Given the description of an element on the screen output the (x, y) to click on. 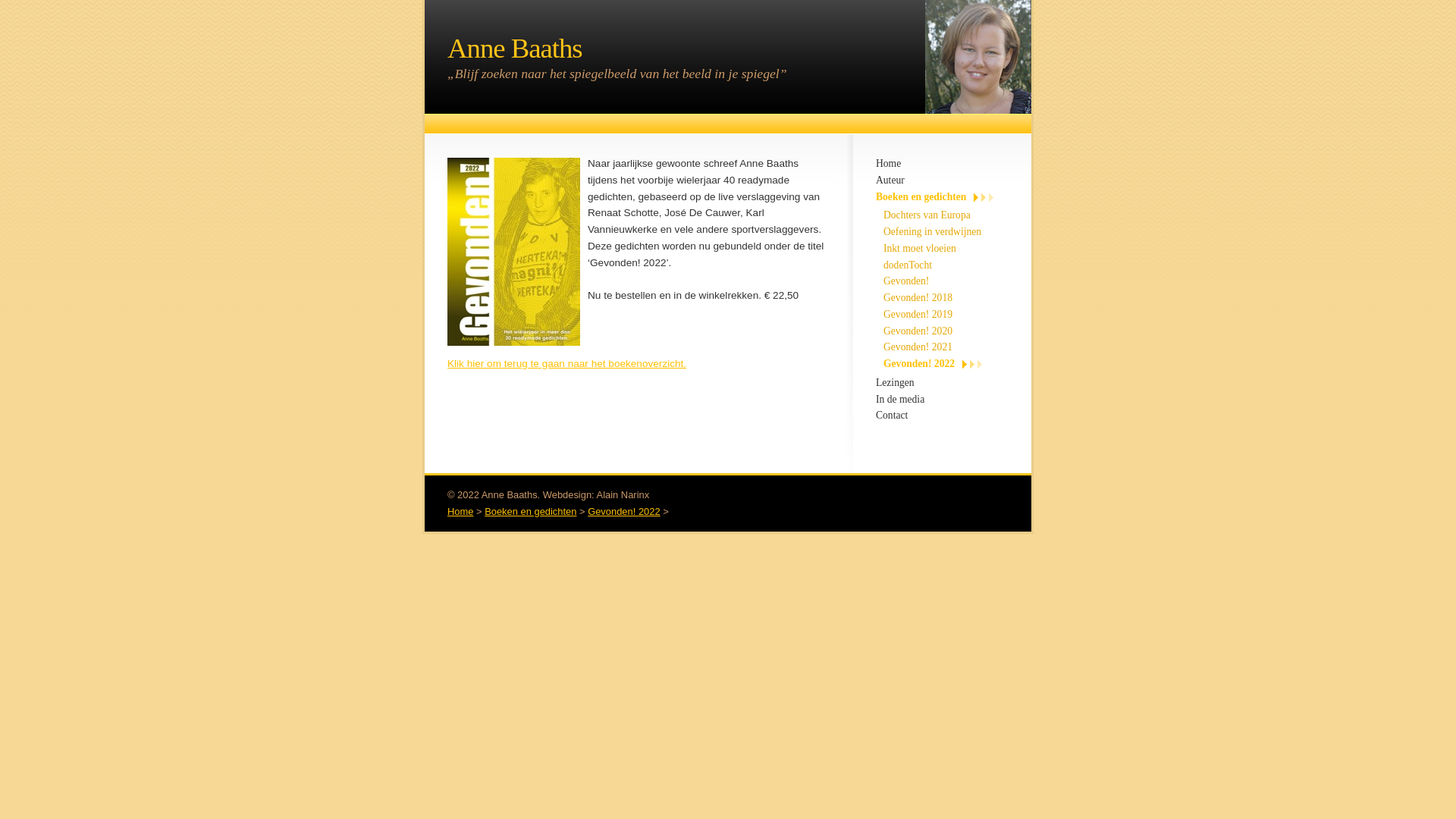
dodenTocht Element type: text (907, 264)
Oefening in verdwijnen Element type: text (932, 231)
Inkt moet vloeien Element type: text (919, 248)
Contact Element type: text (891, 414)
Boeken en gedichten Element type: text (530, 511)
Gevonden! Element type: text (905, 280)
Dochters van Europa Element type: text (926, 214)
Boeken en gedichten Element type: text (934, 196)
Gevonden! 2020 Element type: text (917, 329)
Gevonden! 2022 Element type: text (623, 511)
Lezingen Element type: text (894, 382)
Auteur Element type: text (889, 179)
Klik hier om terug te gaan naar het boekenoverzicht. Element type: text (566, 363)
Gevonden! 2019 Element type: text (917, 314)
Gevonden! 2022 Element type: text (932, 363)
Gevonden! 2021 Element type: text (917, 346)
In de media Element type: text (899, 398)
Home Element type: text (887, 163)
Home Element type: text (460, 511)
Gevonden! 2018 Element type: text (917, 297)
